Given the description of an element on the screen output the (x, y) to click on. 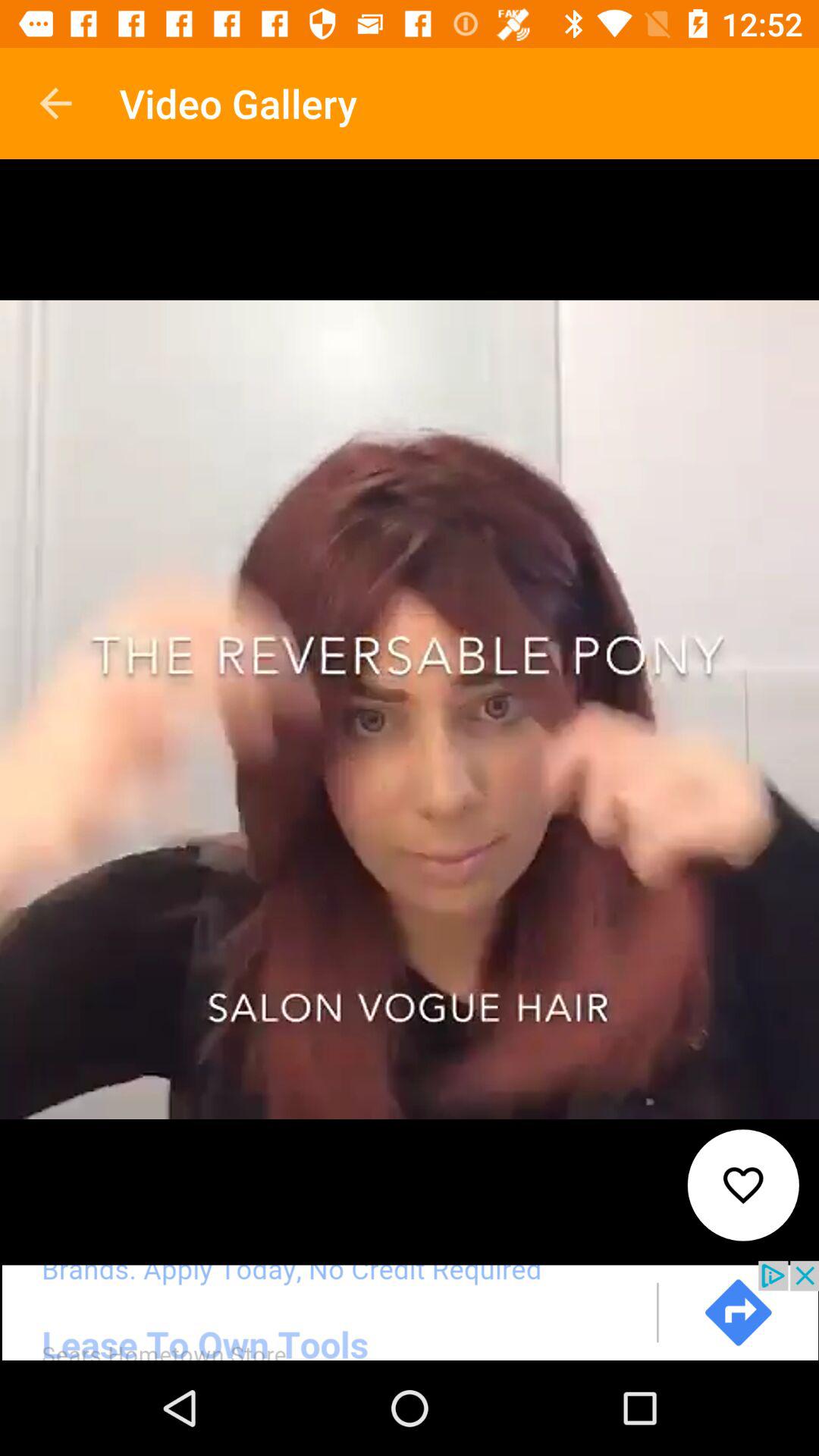
like the video (743, 1185)
